Given the description of an element on the screen output the (x, y) to click on. 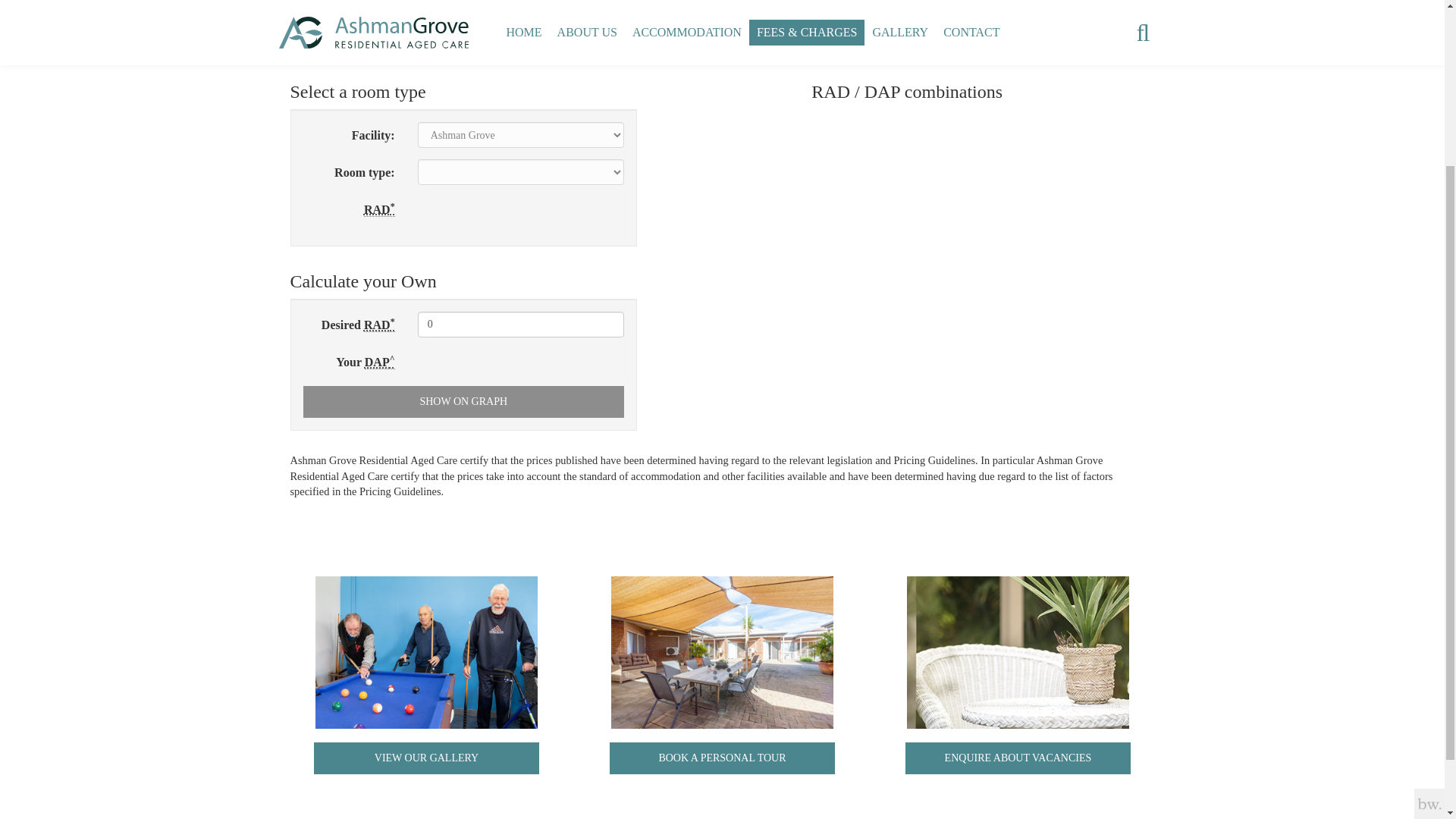
Daily Accommodation Payment (379, 362)
View our gallery (426, 757)
Refundable Accommodation Deposit (379, 325)
BOOK A PERSONAL TOUR (722, 757)
VIEW OUR GALLERY (426, 757)
Enquire about vacancies (1017, 757)
Refundable Accommodation Deposit (379, 210)
SHOW ON GRAPH (463, 401)
View our gallery (426, 652)
Book a personal tour (722, 652)
Enquire about vacancies (1017, 652)
ENQUIRE ABOUT VACANCIES (1017, 757)
0 (520, 324)
Book a personal tour (722, 757)
